Given the description of an element on the screen output the (x, y) to click on. 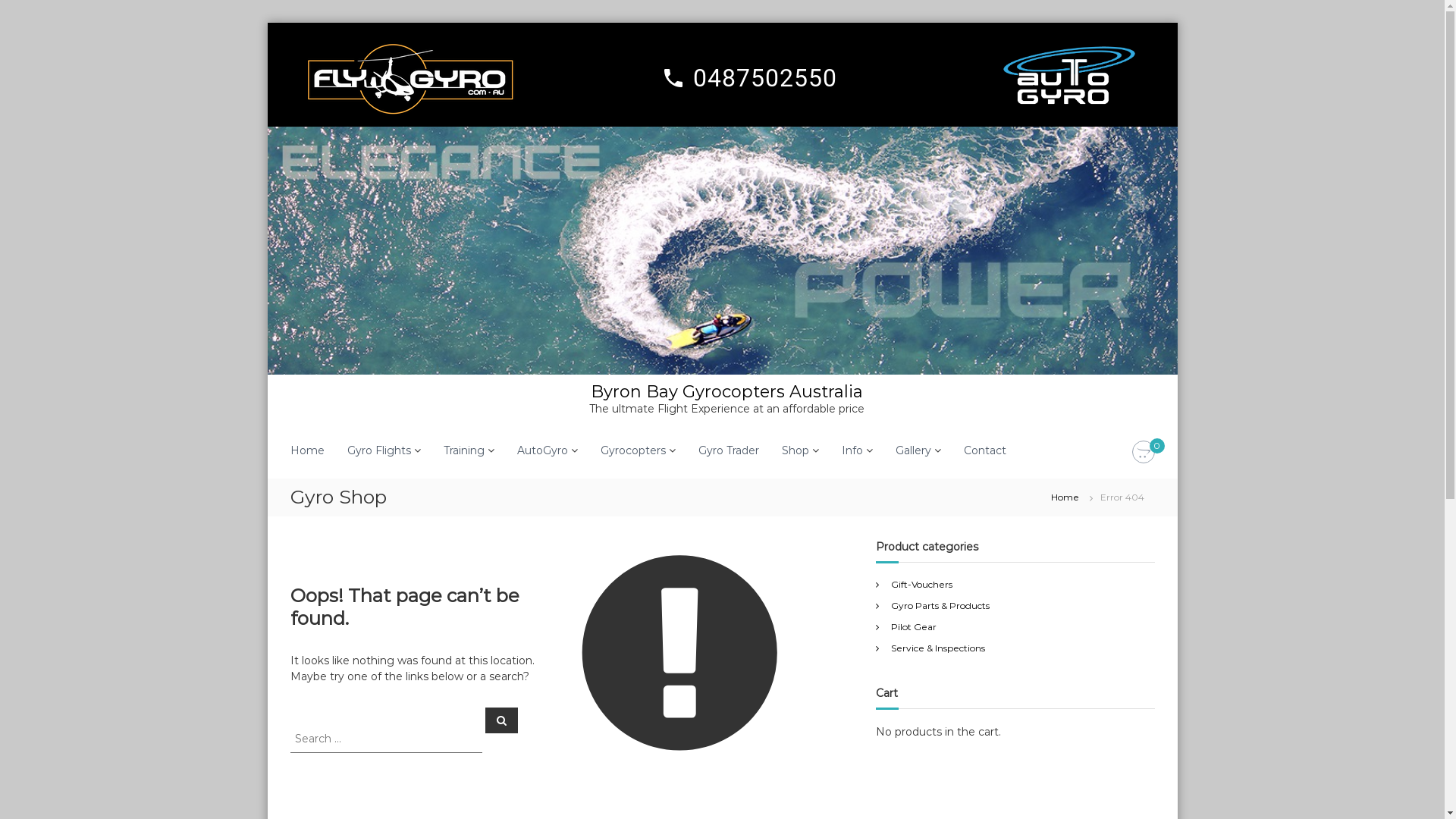
Gyrocopters Element type: text (632, 450)
Training Element type: text (462, 450)
AutoGyro Element type: text (542, 450)
Home Element type: text (1065, 496)
Gyro Flights Element type: text (379, 450)
Contact Element type: text (984, 450)
Shop Element type: text (794, 450)
Search Element type: text (501, 719)
Gift-Vouchers Element type: text (921, 583)
Gyro Trader Element type: text (727, 450)
Byron Bay Gyrocopters Australia Element type: text (726, 391)
local_phone 0487502550 Element type: text (748, 77)
Service & Inspections Element type: text (938, 646)
Pilot Gear Element type: text (913, 625)
0 Element type: text (1142, 452)
Skip to content Element type: text (266, 21)
Gallery Element type: text (912, 450)
Home Element type: text (306, 450)
Info Element type: text (851, 450)
Gyro Parts & Products Element type: text (940, 604)
